Given the description of an element on the screen output the (x, y) to click on. 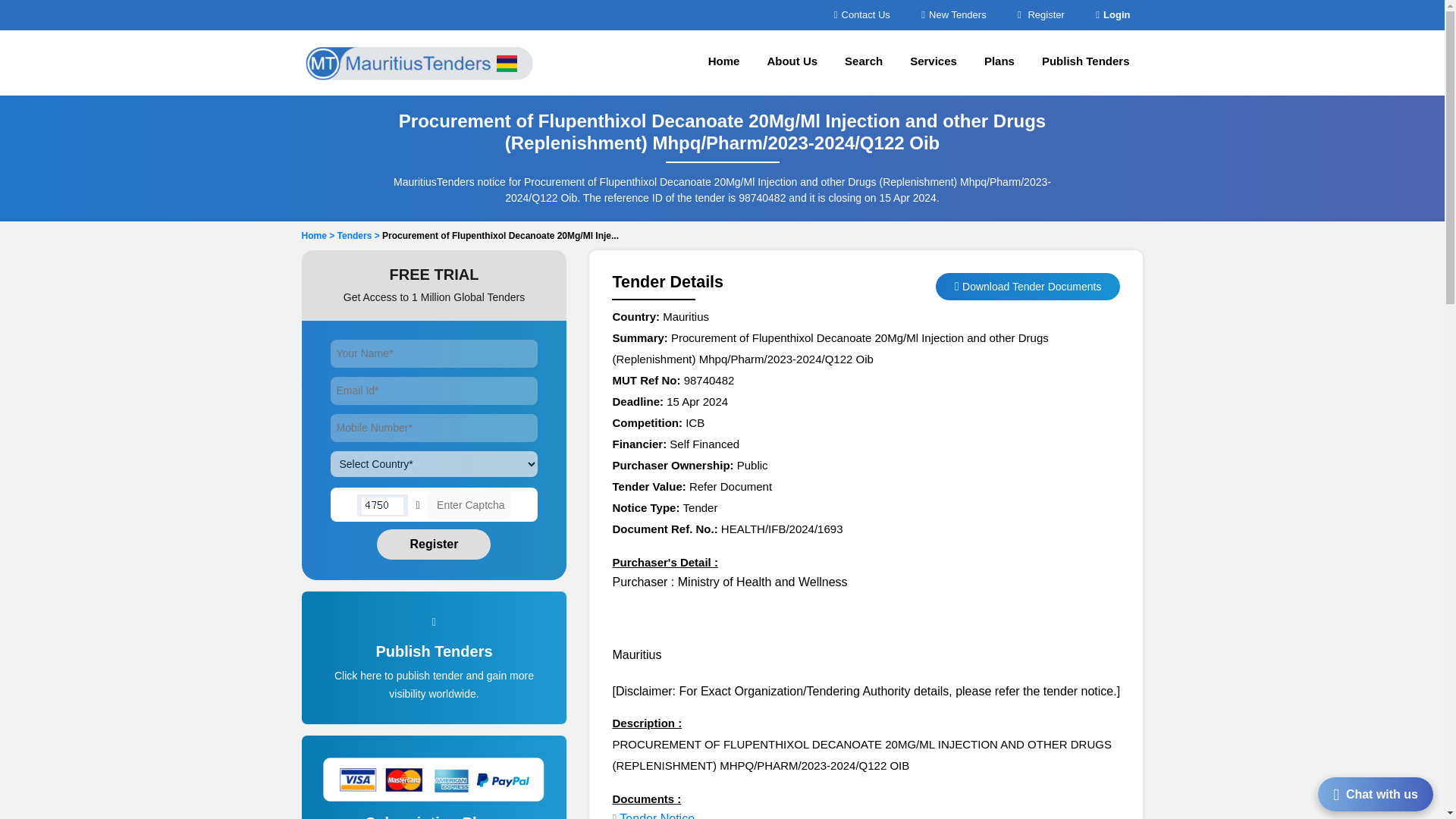
Subscription Plans (434, 816)
Plans (999, 62)
Contact Us (861, 14)
Register (1040, 14)
Publish Tenders (434, 675)
Publish Tenders (1084, 62)
Register (433, 544)
About Us (791, 62)
Services (933, 62)
